Given the description of an element on the screen output the (x, y) to click on. 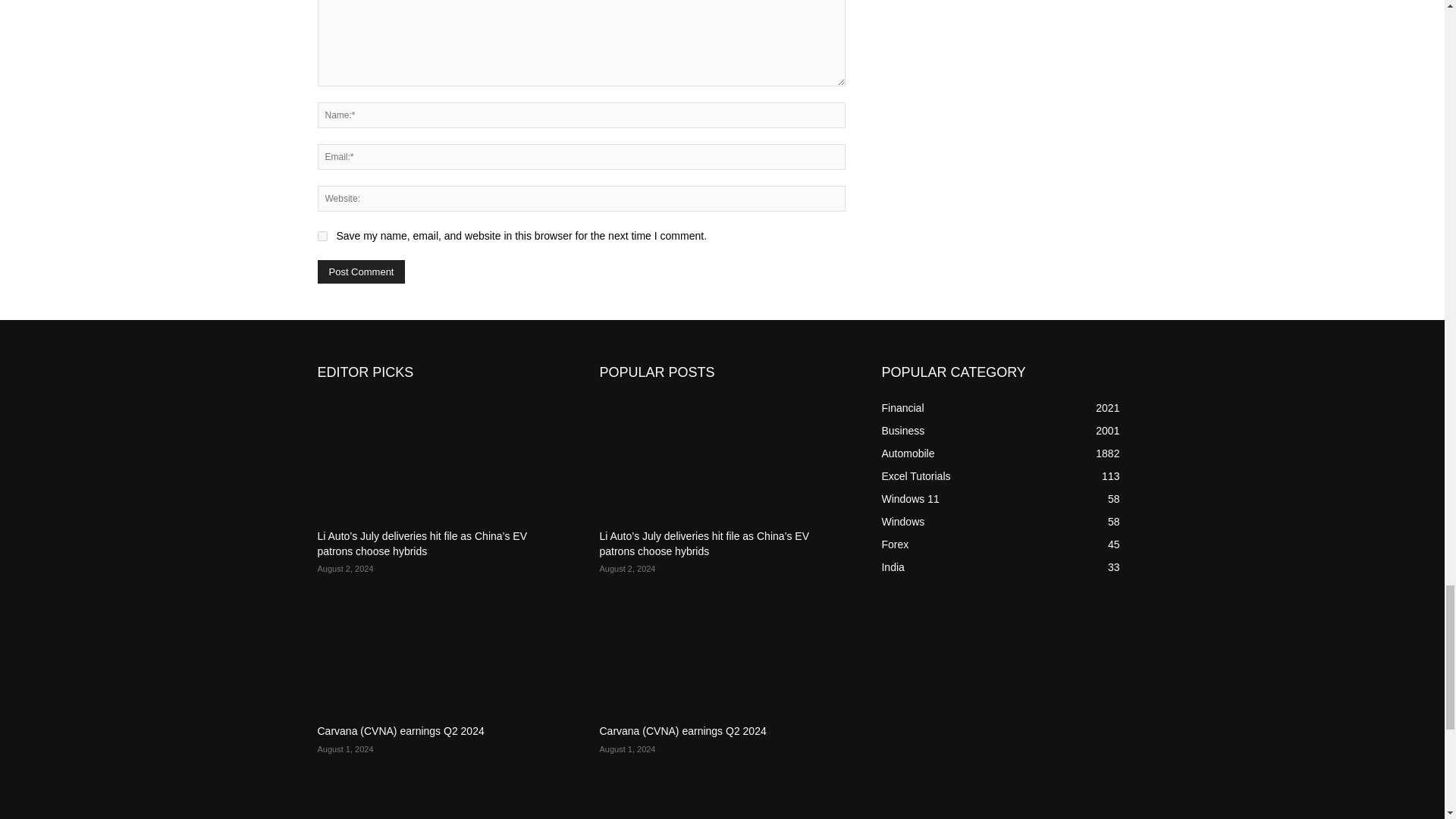
yes (321, 235)
Post Comment (360, 271)
